Given the description of an element on the screen output the (x, y) to click on. 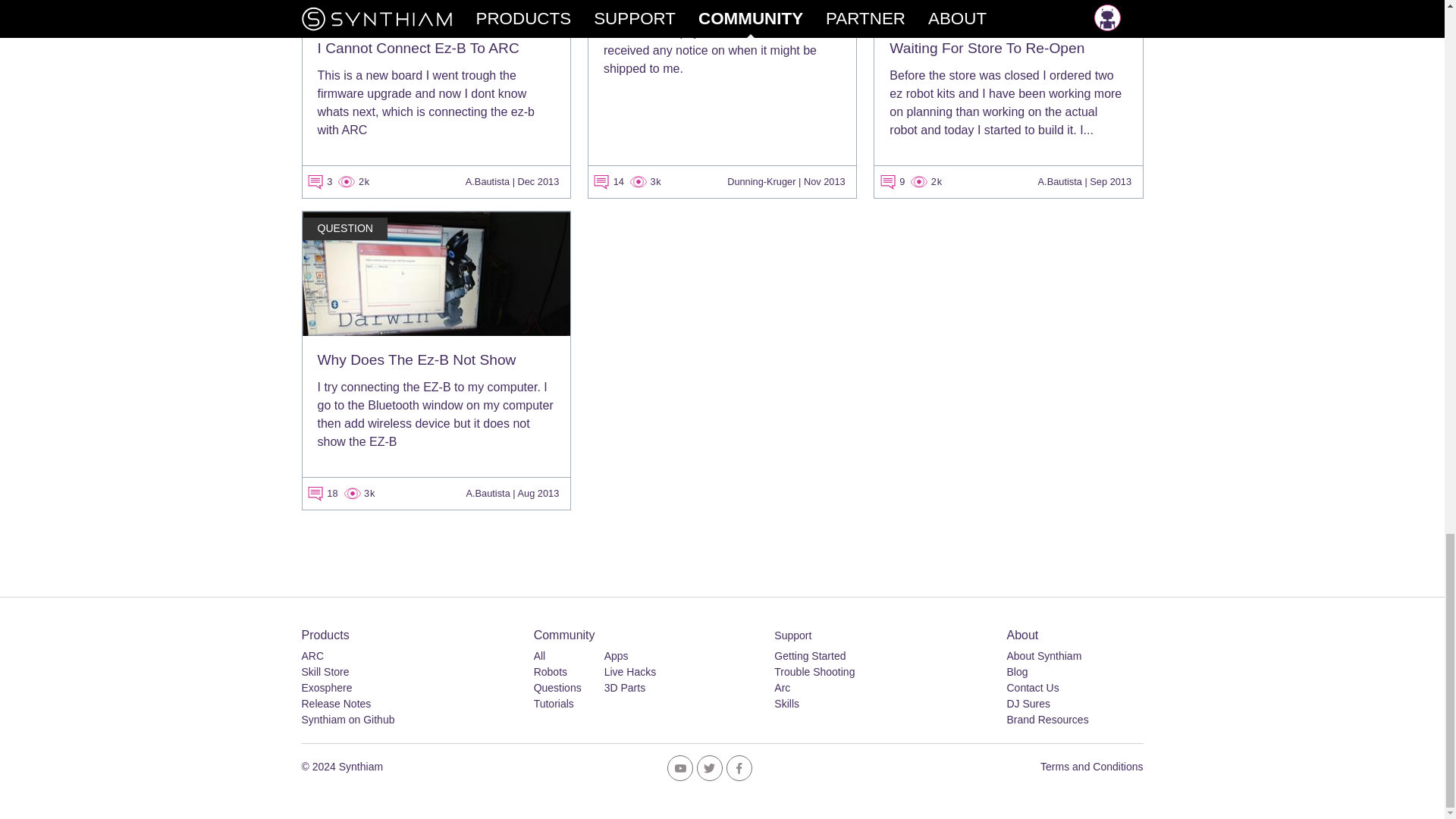
2013-09-10 02:07 UTC (1110, 181)
2013-08-11 00:01 UTC (537, 492)
2013-11-25 06:22 UTC (824, 181)
2013-12-28 22:56 UTC (538, 181)
